Given the description of an element on the screen output the (x, y) to click on. 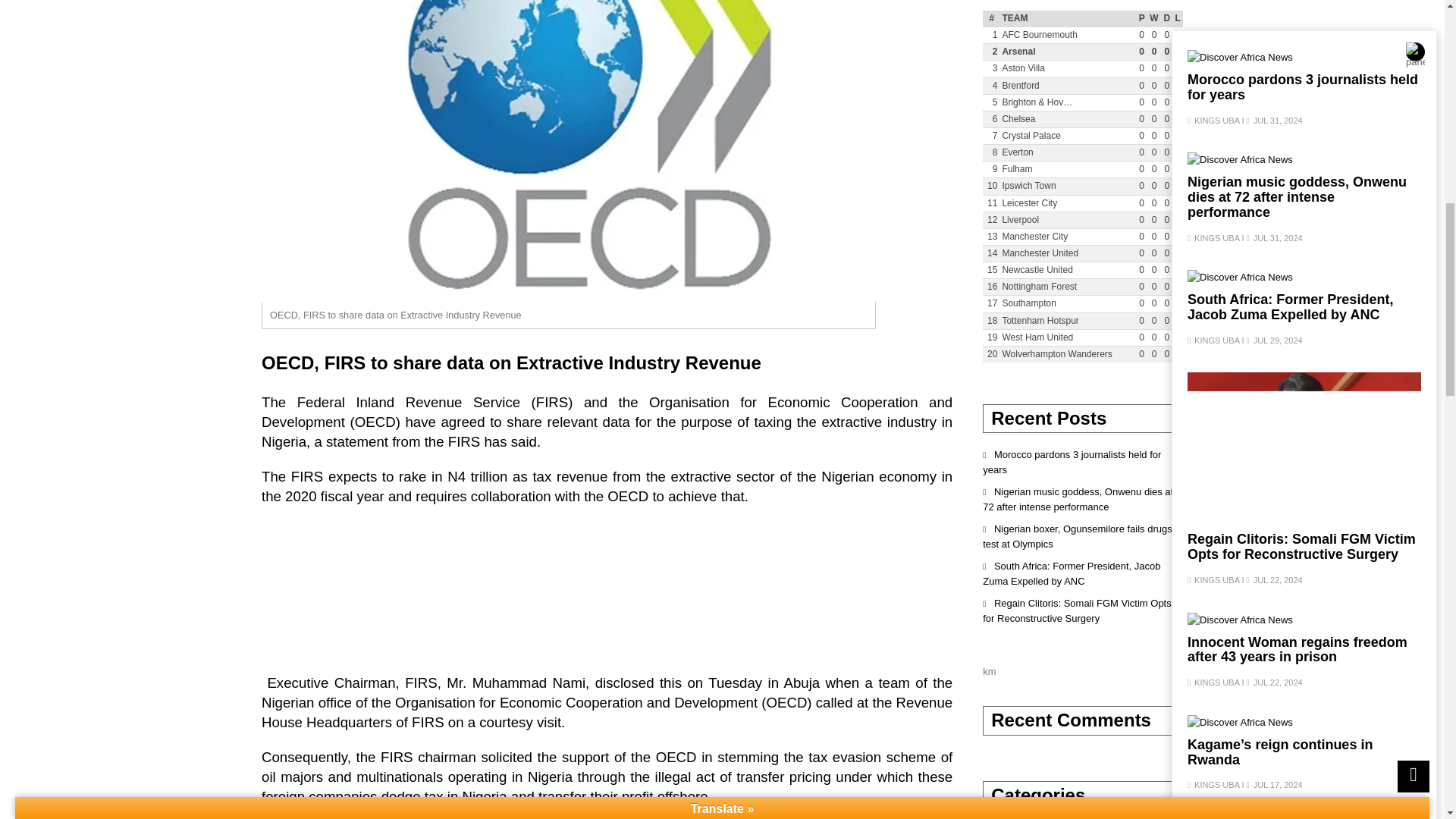
Team (1067, 18)
Rank (991, 18)
